Given the description of an element on the screen output the (x, y) to click on. 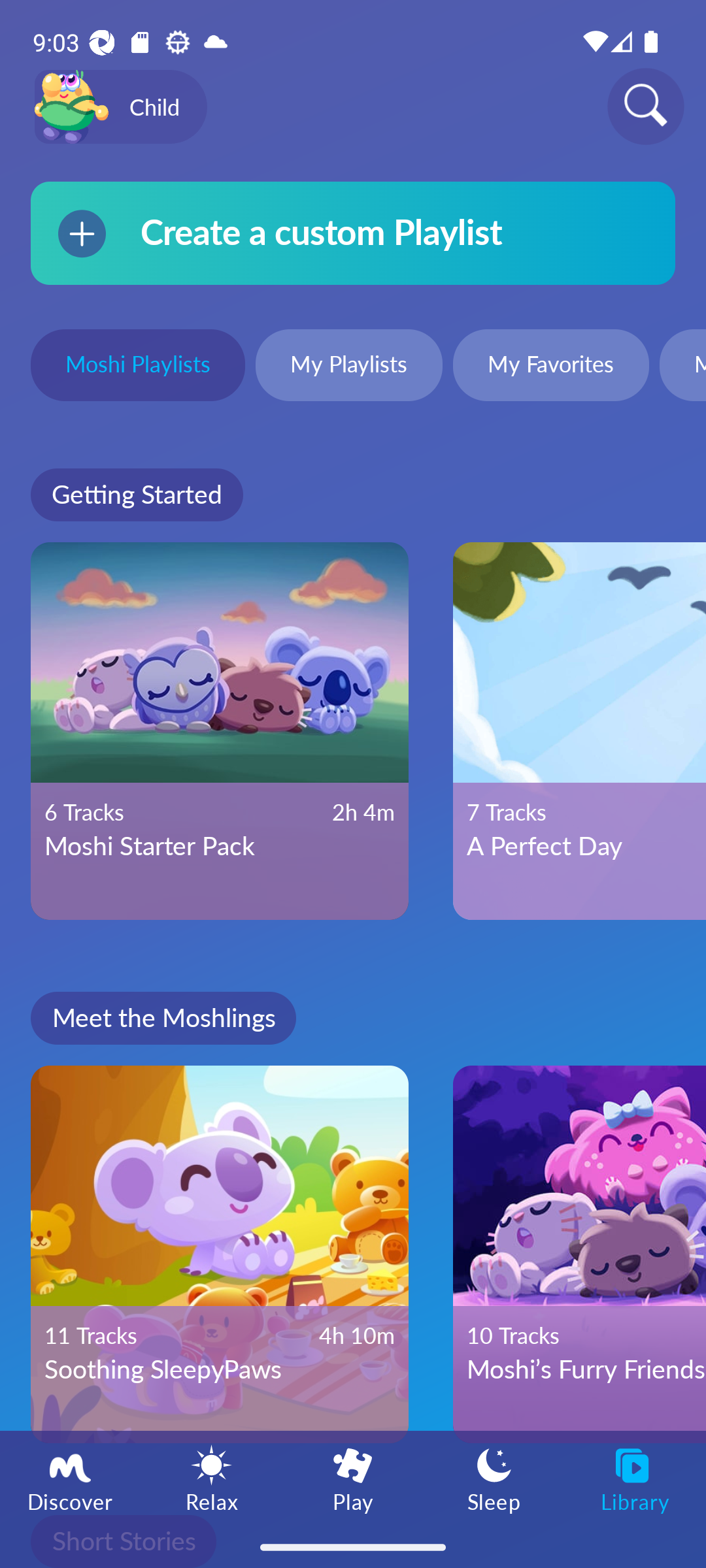
Profile icon Child (120, 107)
Create a custom Playlist (352, 233)
Moshi Playlists (137, 367)
My Playlists (348, 367)
My Favorites (550, 367)
Featured Content 6 Tracks Moshi Starter Pack 2h 4m (219, 731)
Featured Content 7 Tracks A Perfect Day (579, 731)
Featured Content 10 Tracks Moshi’s Furry Friends (579, 1254)
Discover (70, 1478)
Relax (211, 1478)
Play (352, 1478)
Sleep (493, 1478)
